Given the description of an element on the screen output the (x, y) to click on. 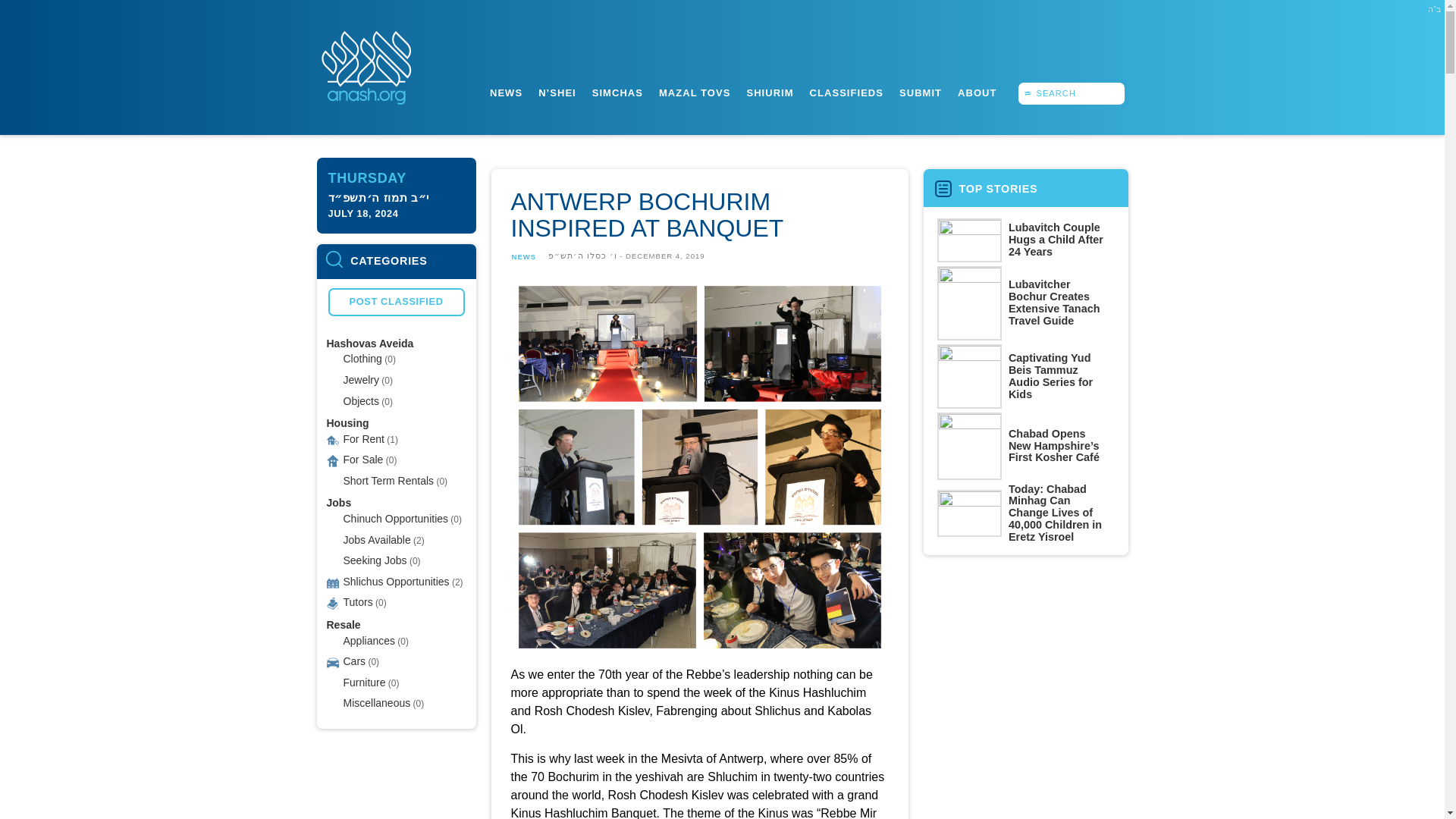
Resale (342, 624)
Appliances (368, 640)
CLASSIFIEDS (846, 93)
For Sale (362, 459)
MAZAL TOVS (694, 93)
CATEGORIES (396, 261)
Seeking Jobs (374, 560)
POST CLASSIFIED (395, 302)
NEWS (505, 93)
Jewelry (360, 379)
For Rent (363, 438)
Housing (347, 422)
Clothing (361, 358)
Hashovas Aveida (369, 343)
Jobs (338, 502)
